Given the description of an element on the screen output the (x, y) to click on. 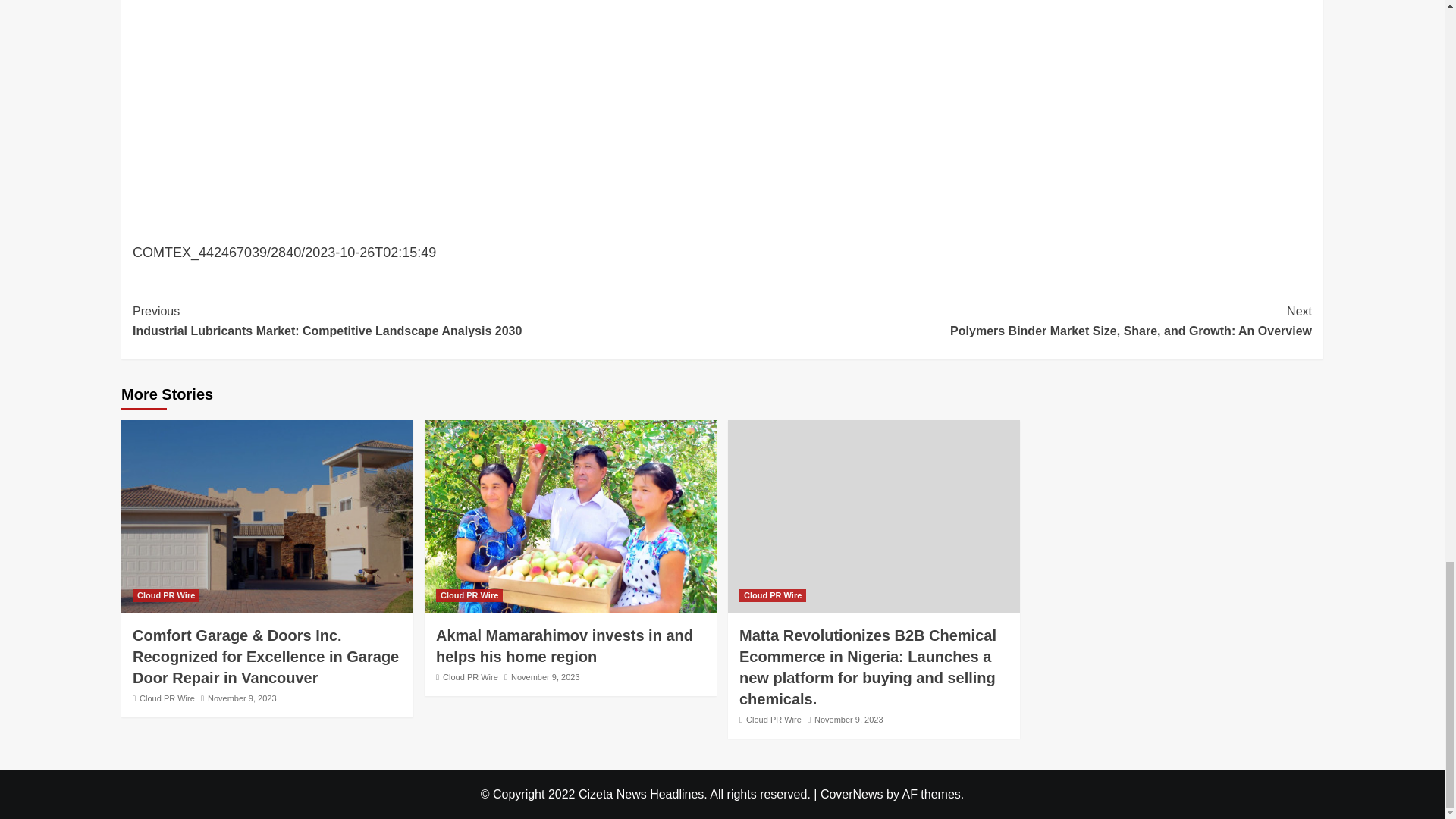
Cloud PR Wire (167, 697)
Cloud PR Wire (468, 594)
November 9, 2023 (242, 697)
Cloud PR Wire (165, 594)
Akmal Mamarahimov invests in and helps his home region (564, 646)
